Given the description of an element on the screen output the (x, y) to click on. 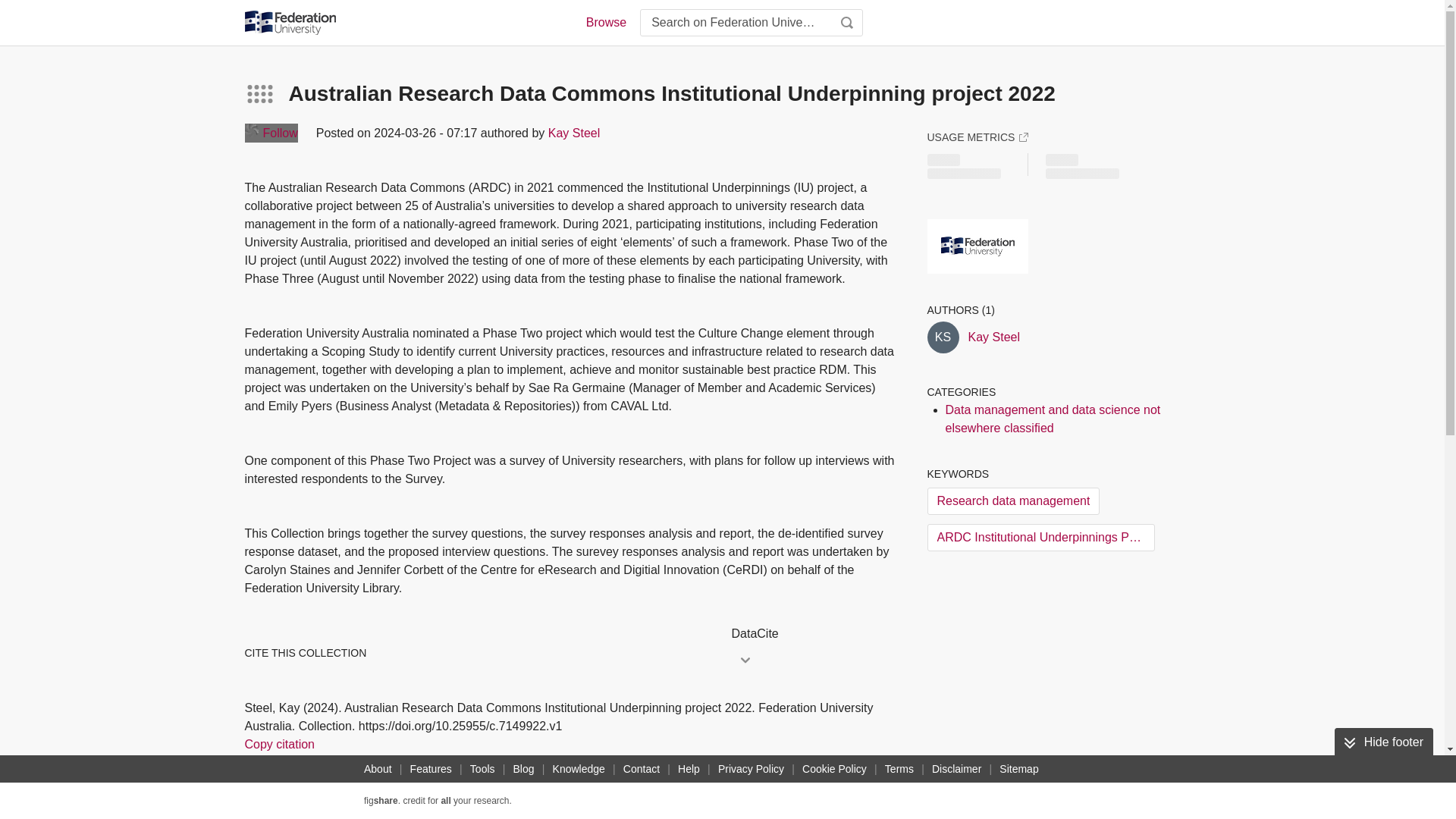
Kay Steel (993, 337)
Browse (605, 22)
DataCite (812, 633)
USAGE METRICS (976, 136)
Kay Steel (573, 133)
Copy DOI (493, 788)
Follow (270, 132)
Federation University Australia (976, 246)
Kay Steel (942, 336)
Data management and data science not elsewhere classified (1052, 418)
Copy citation (279, 744)
